Given the description of an element on the screen output the (x, y) to click on. 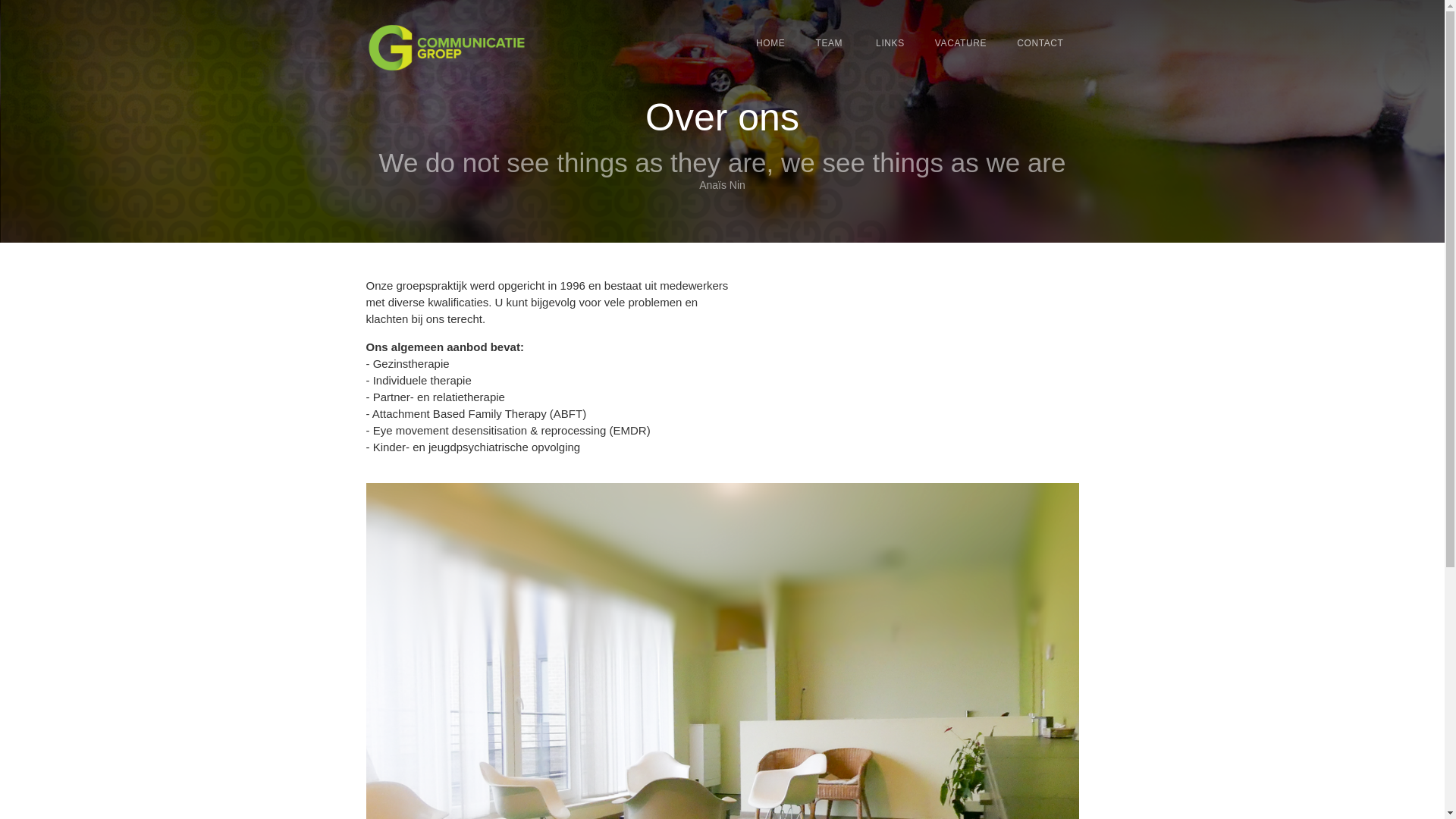
TEAM Element type: text (828, 43)
CONTACT Element type: text (1039, 43)
 LINKS Element type: text (888, 43)
VACATURE Element type: text (960, 43)
HOME Element type: text (770, 43)
